Given the description of an element on the screen output the (x, y) to click on. 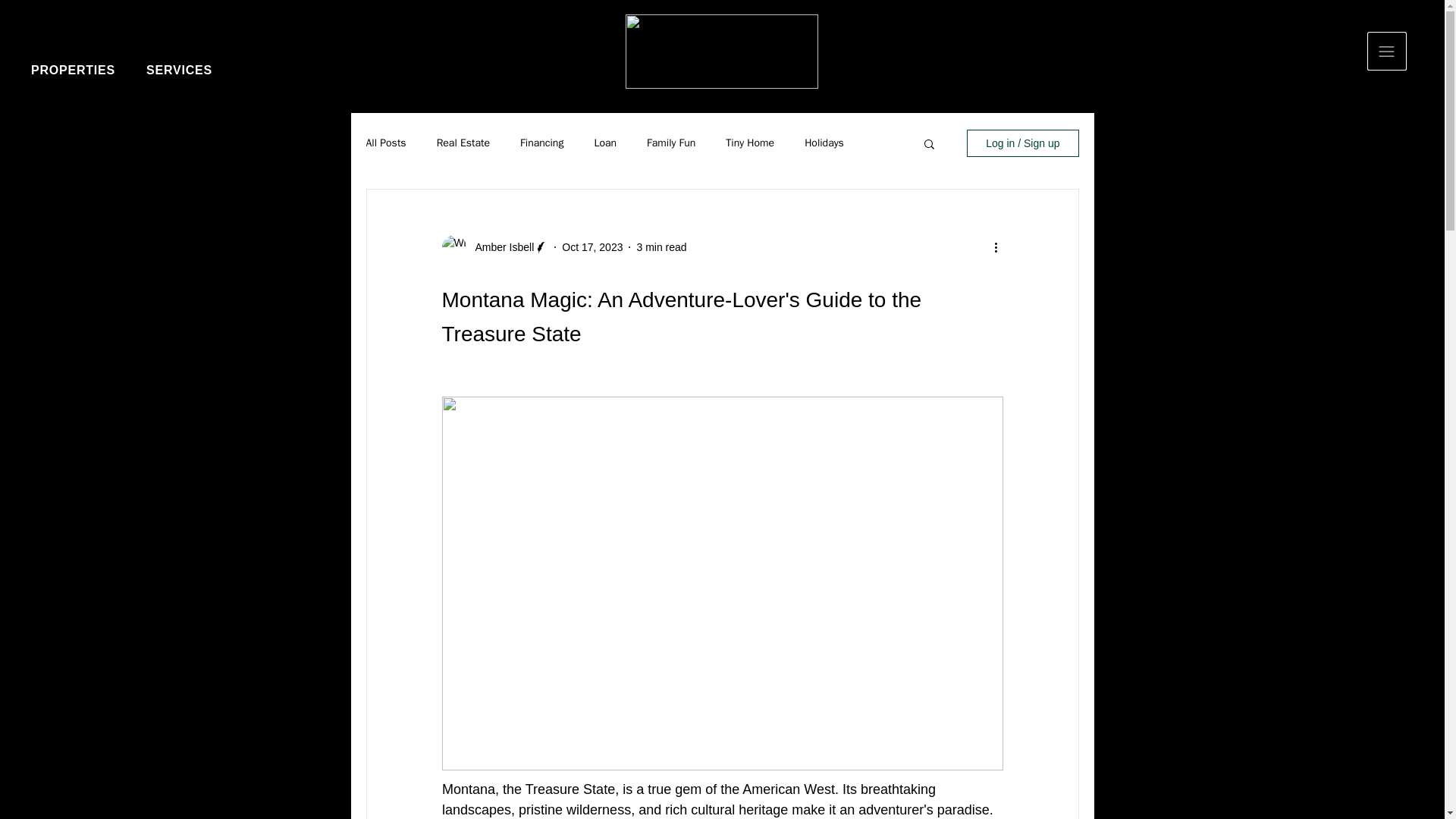
3 min read (660, 246)
SERVICES (178, 70)
Financing (541, 142)
Real Estate (462, 142)
Holidays (824, 142)
PROPERTIES (72, 70)
Tiny Home (749, 142)
Oct 17, 2023 (592, 246)
Family Fun (670, 142)
All Posts (385, 142)
Loan (604, 142)
Amber Isbell (499, 247)
